Given the description of an element on the screen output the (x, y) to click on. 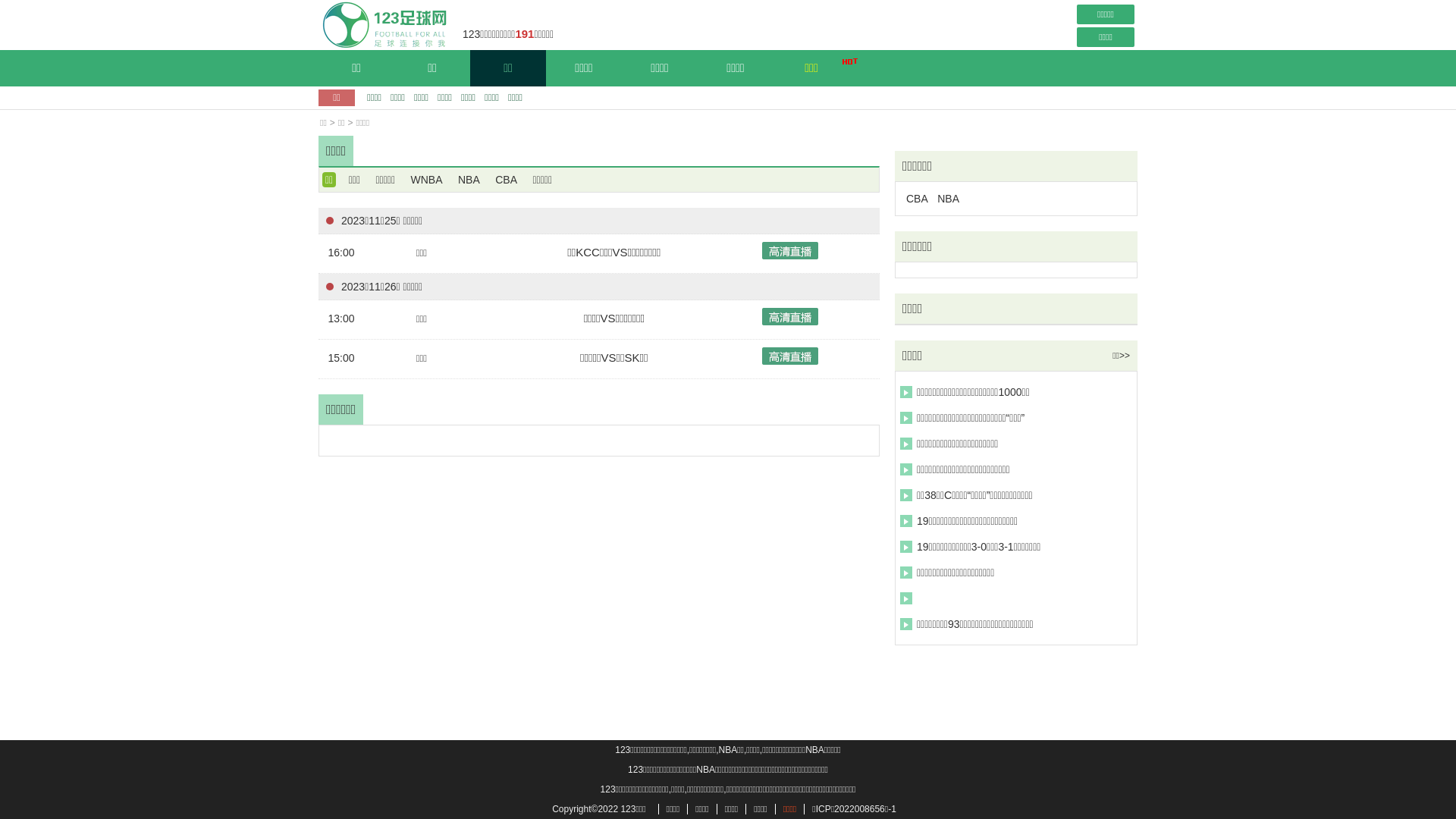
NBA Element type: text (948, 198)
CBA Element type: text (917, 198)
CBA Element type: text (506, 179)
WNBA Element type: text (426, 179)
NBA Element type: text (469, 179)
